Given the description of an element on the screen output the (x, y) to click on. 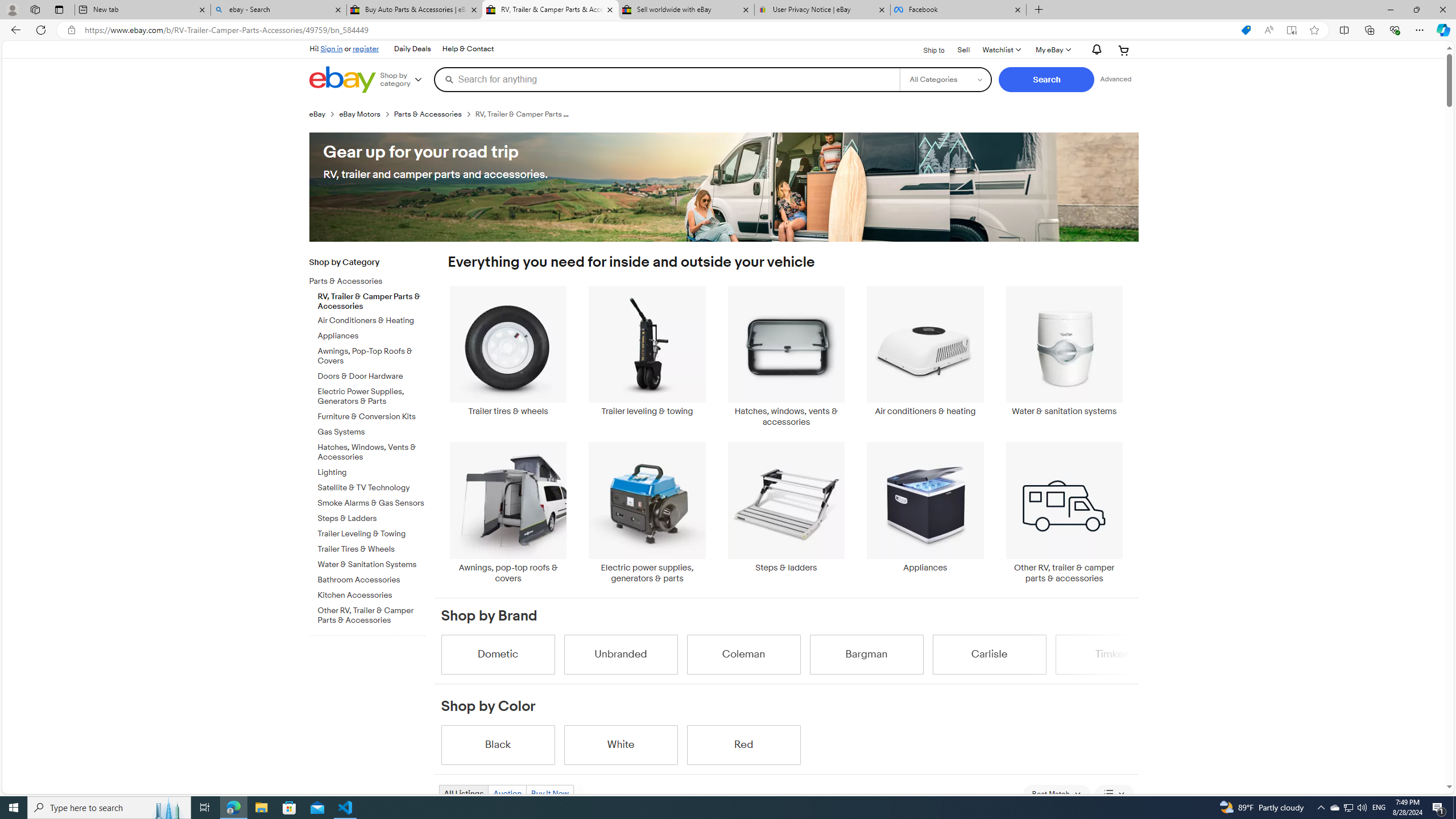
eBay Home (341, 79)
Watchlist (1000, 49)
eBay Motors (366, 113)
Search (1046, 79)
Smoke Alarms & Gas Sensors (371, 503)
Notifications (1093, 49)
Address and search bar (658, 29)
Dometic (497, 653)
View: List View (1114, 793)
Select a category for search (945, 78)
Bargman (866, 653)
Sell (963, 49)
Black (497, 744)
Lighting (371, 472)
AutomationID: gh-eb-Alerts (1094, 49)
